Given the description of an element on the screen output the (x, y) to click on. 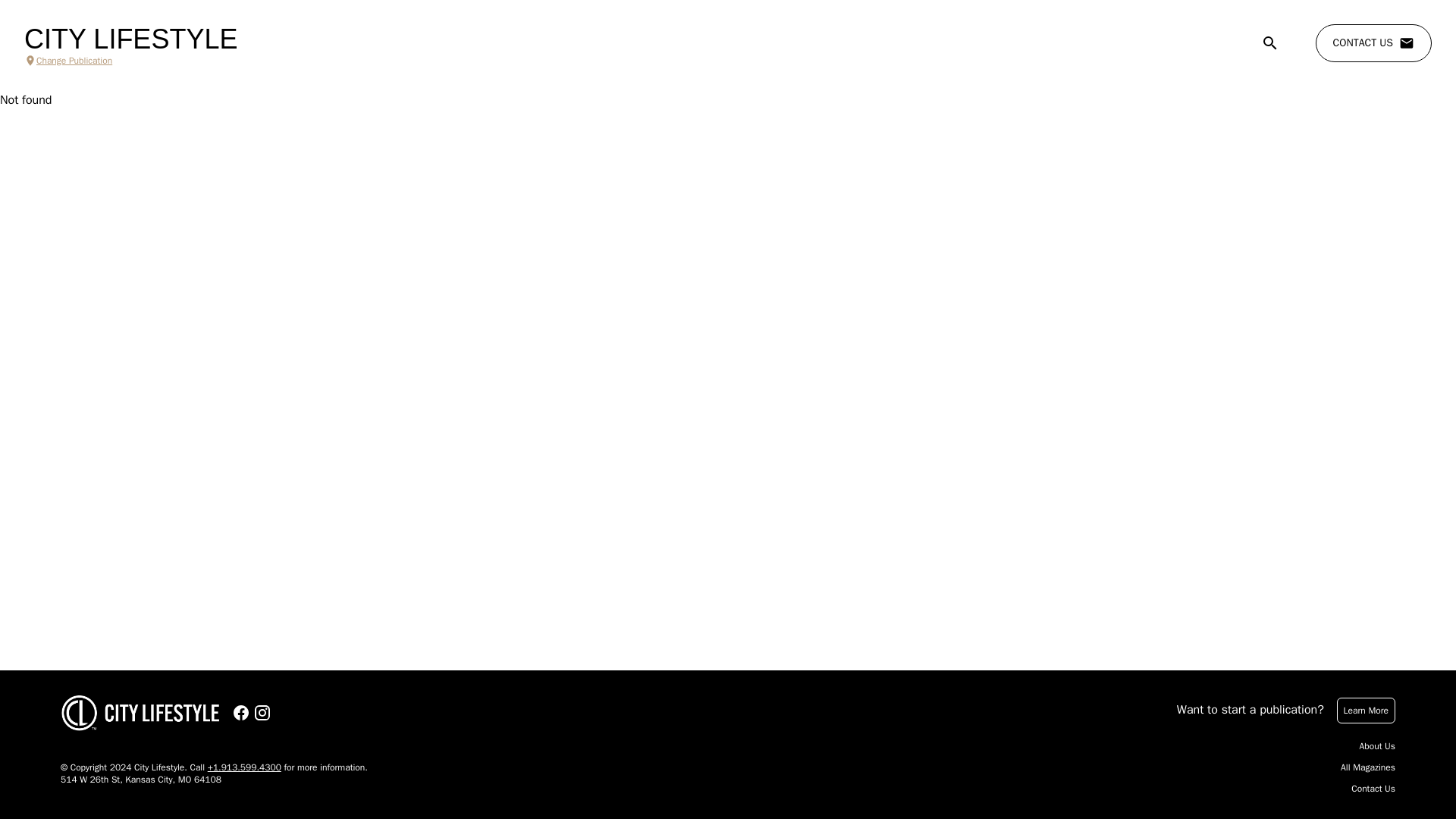
CONTACT US (1373, 43)
All Magazines (1367, 767)
Learn More (1365, 710)
Contact Us (1372, 788)
CITY LIFESTYLE (130, 39)
About Us (1376, 746)
Change Publication (130, 60)
